Given the description of an element on the screen output the (x, y) to click on. 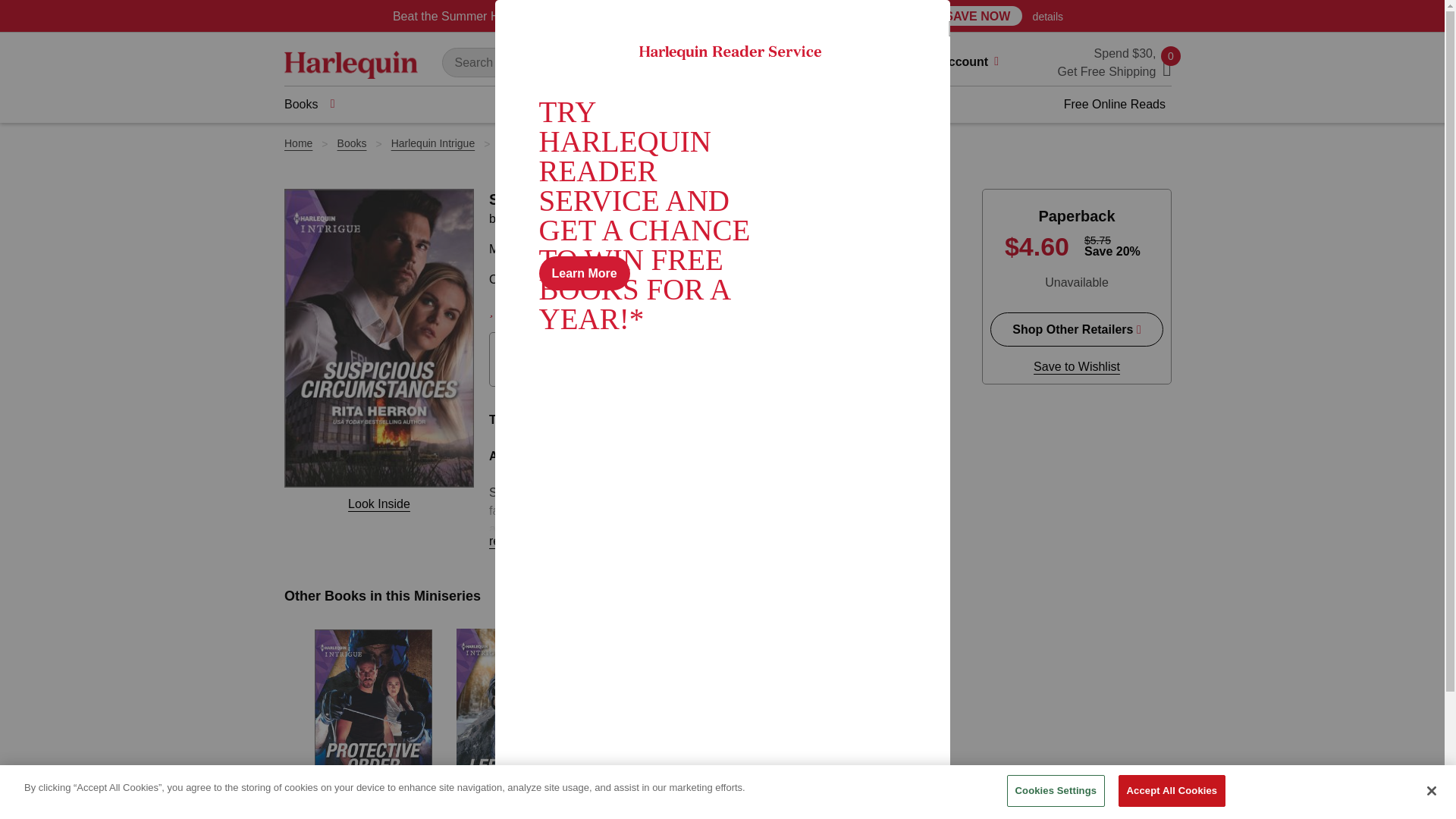
See ratings and reviews (520, 309)
details (1047, 16)
SAVE NOW (977, 15)
Harlequin home (350, 63)
Account (974, 63)
See all reviews on Goodreads (708, 309)
Books (308, 104)
Search for other content by Rita Herron (536, 218)
